Given the description of an element on the screen output the (x, y) to click on. 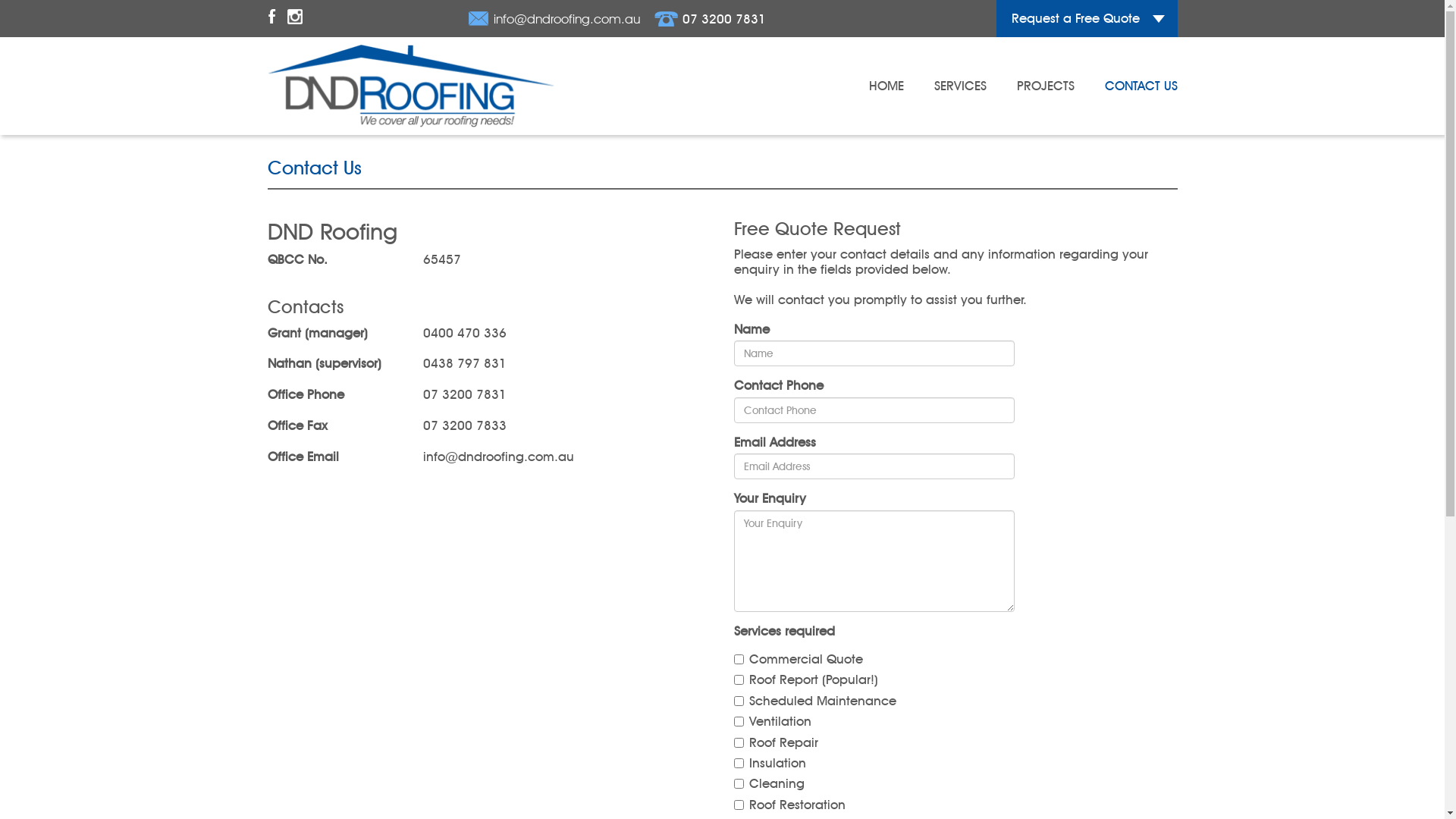
SERVICES Element type: text (960, 85)
Request a Free Quote Element type: text (1086, 18)
info@dndroofing.com.au Element type: text (498, 456)
CONTACT US Element type: text (1140, 85)
f Element type: text (270, 18)
PROJECTS Element type: text (1044, 85)
HOME Element type: text (886, 85)
info@dndroofing.com.au Element type: text (554, 18)
07 3200 7831 Element type: text (709, 18)
